Given the description of an element on the screen output the (x, y) to click on. 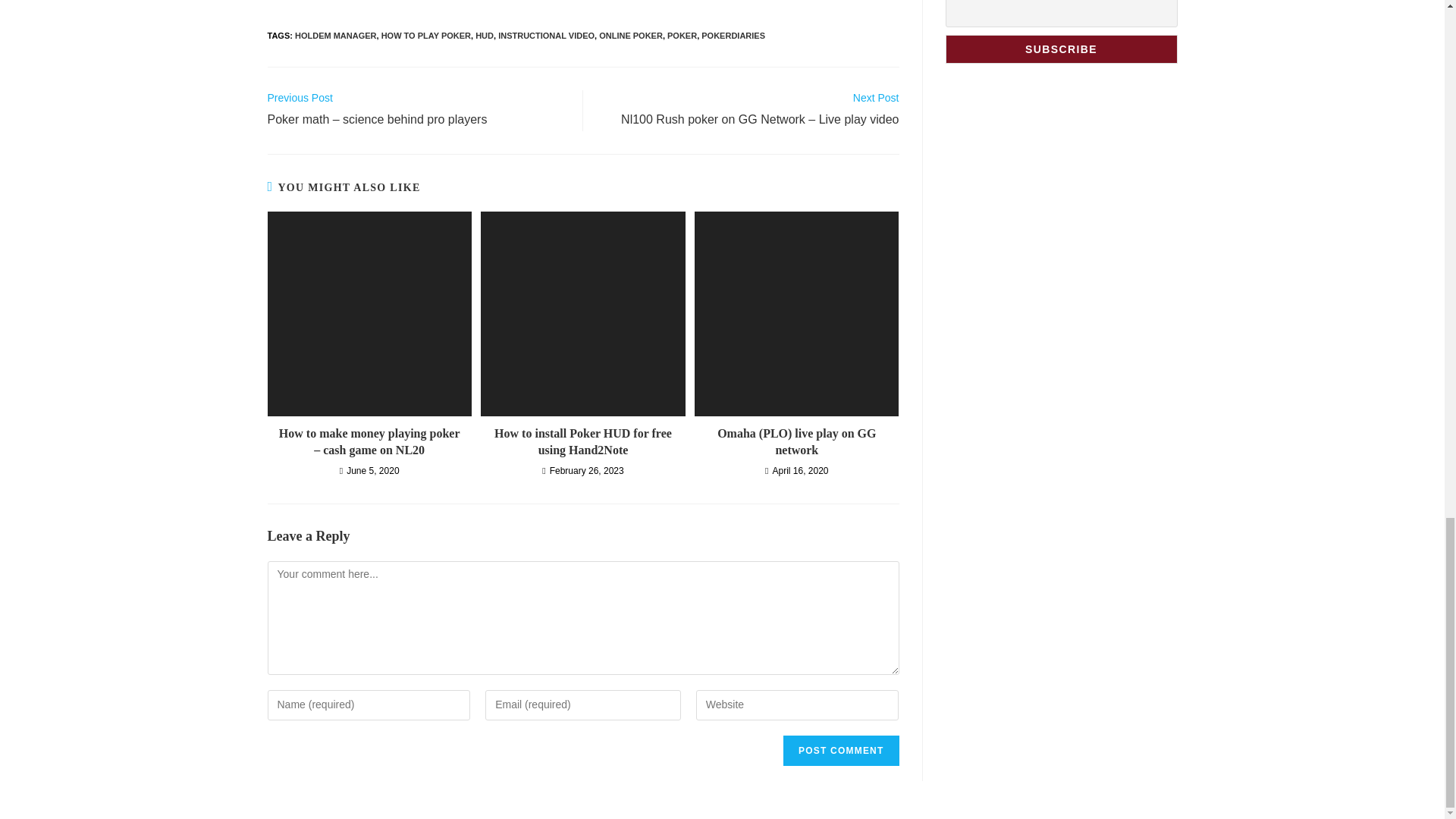
Post Comment (840, 750)
Subscribe (1060, 49)
how to make money playing poker (368, 313)
HOLDEM MANAGER (336, 35)
HOW TO PLAY POKER (425, 35)
